Given the description of an element on the screen output the (x, y) to click on. 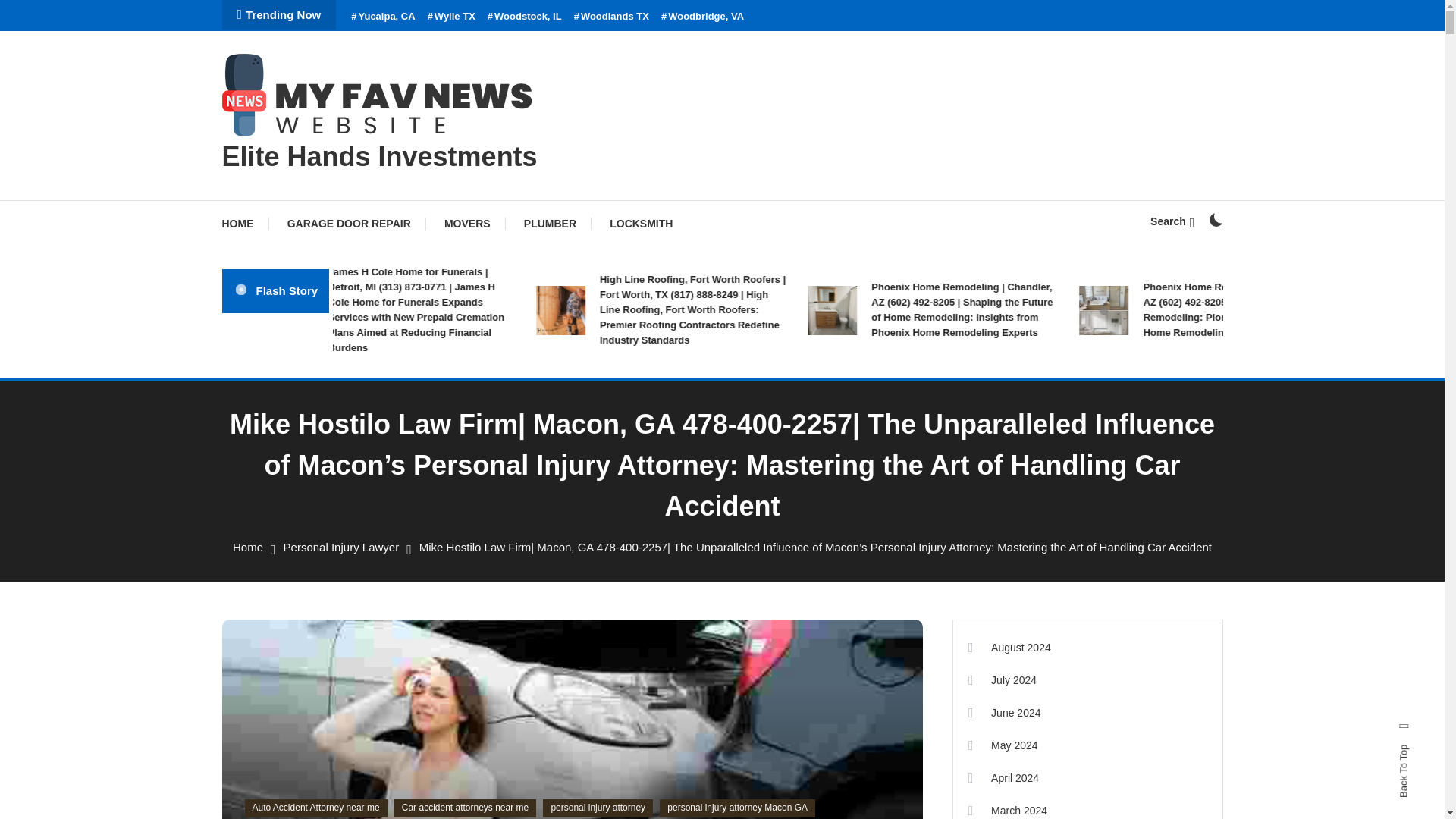
GARAGE DOOR REPAIR (349, 223)
PLUMBER (549, 223)
Woodbridge, VA (702, 16)
Search (768, 434)
Car accident attorneys near me (464, 808)
Wylie TX (452, 16)
Personal Injury Lawyer (340, 546)
LOCKSMITH (640, 223)
HOME (244, 223)
Woodstock, IL (524, 16)
